Given the description of an element on the screen output the (x, y) to click on. 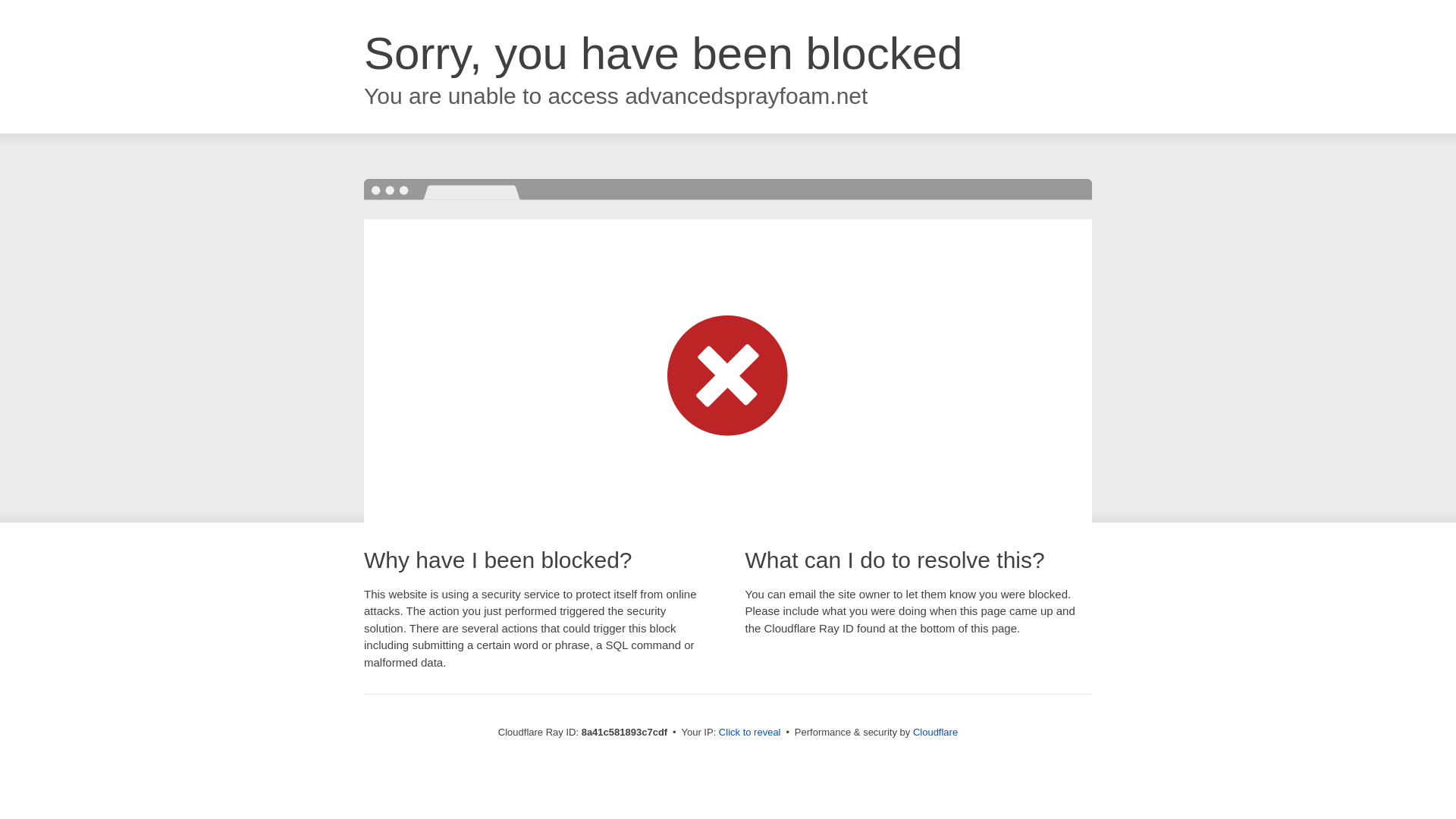
Click to reveal (749, 732)
Cloudflare (935, 731)
